Given the description of an element on the screen output the (x, y) to click on. 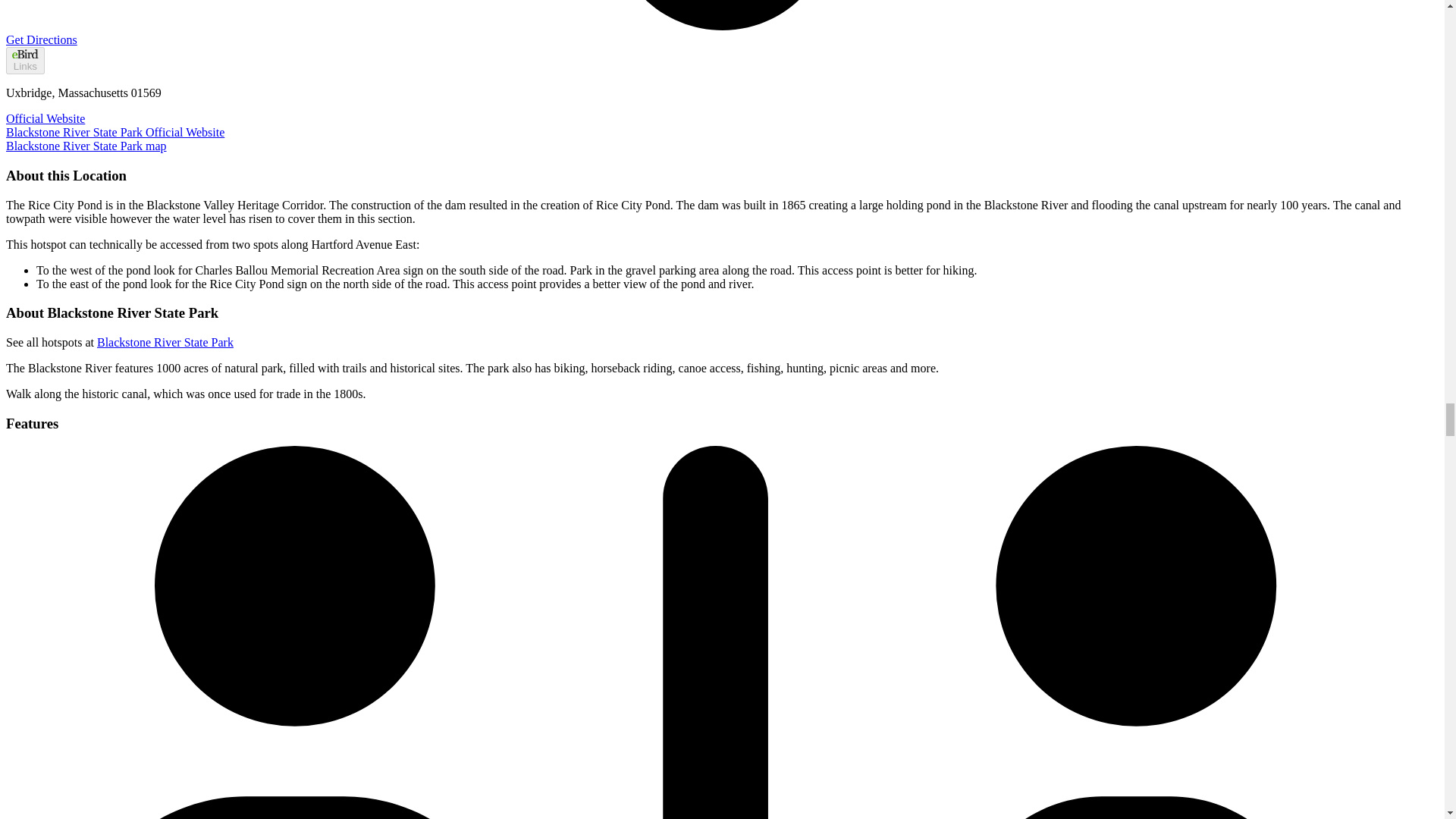
Blackstone River State Park map (86, 145)
Blackstone River State Park Official Website (114, 132)
Blackstone River State Park (164, 341)
Official Website (44, 118)
eBird Links (25, 60)
eBird (24, 53)
